Given the description of an element on the screen output the (x, y) to click on. 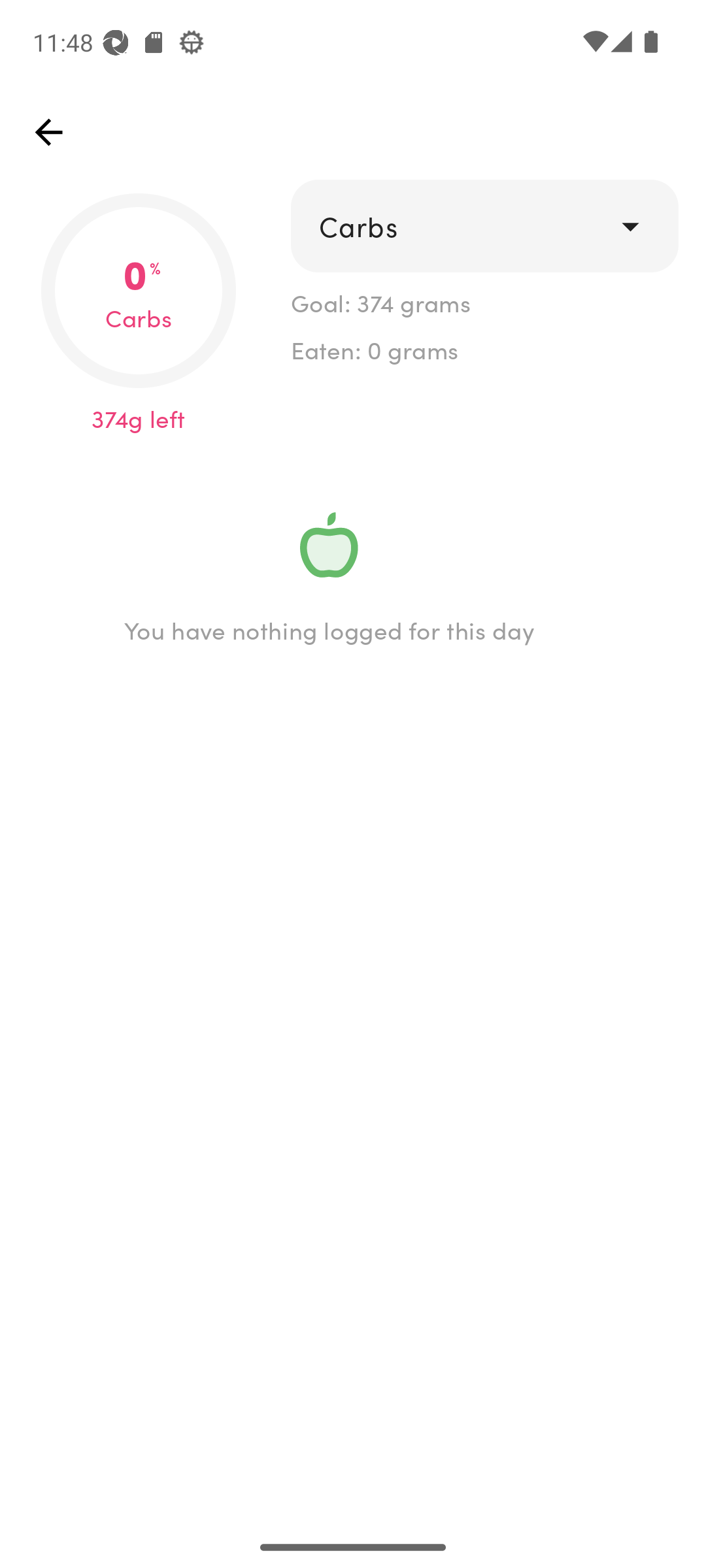
top_left_action (48, 132)
drop_down Carbs (484, 226)
